Given the description of an element on the screen output the (x, y) to click on. 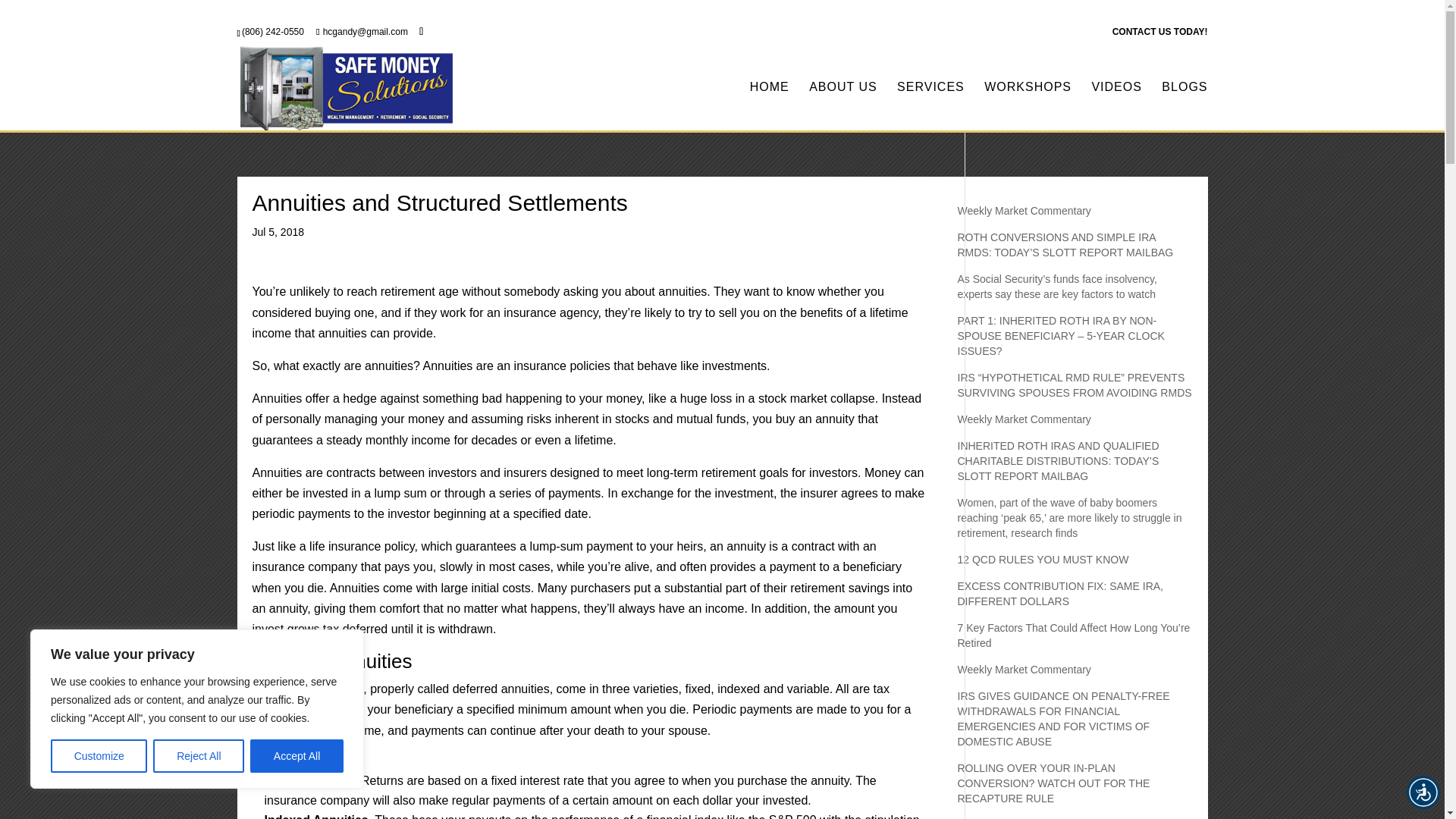
ABOUT US (843, 105)
WORKSHOPS (1027, 105)
Reject All (198, 756)
SERVICES (929, 105)
Customize (98, 756)
BLOGS (1184, 105)
HOME (769, 105)
Accessibility Menu (1422, 792)
VIDEOS (1115, 105)
Weekly Market Commentary (1023, 210)
CONTACT US TODAY! (1160, 35)
Accept All (296, 756)
